Given the description of an element on the screen output the (x, y) to click on. 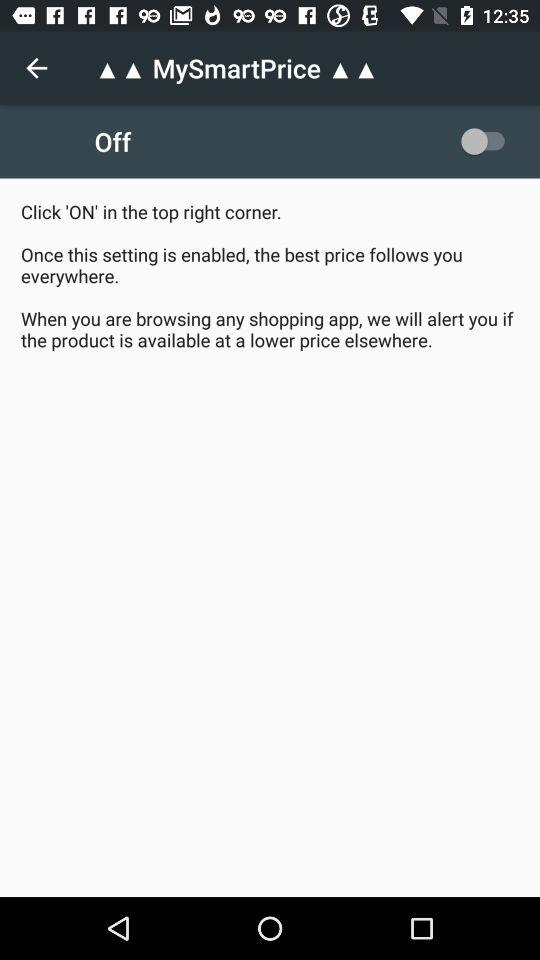
click the item at the top left corner (36, 68)
